Given the description of an element on the screen output the (x, y) to click on. 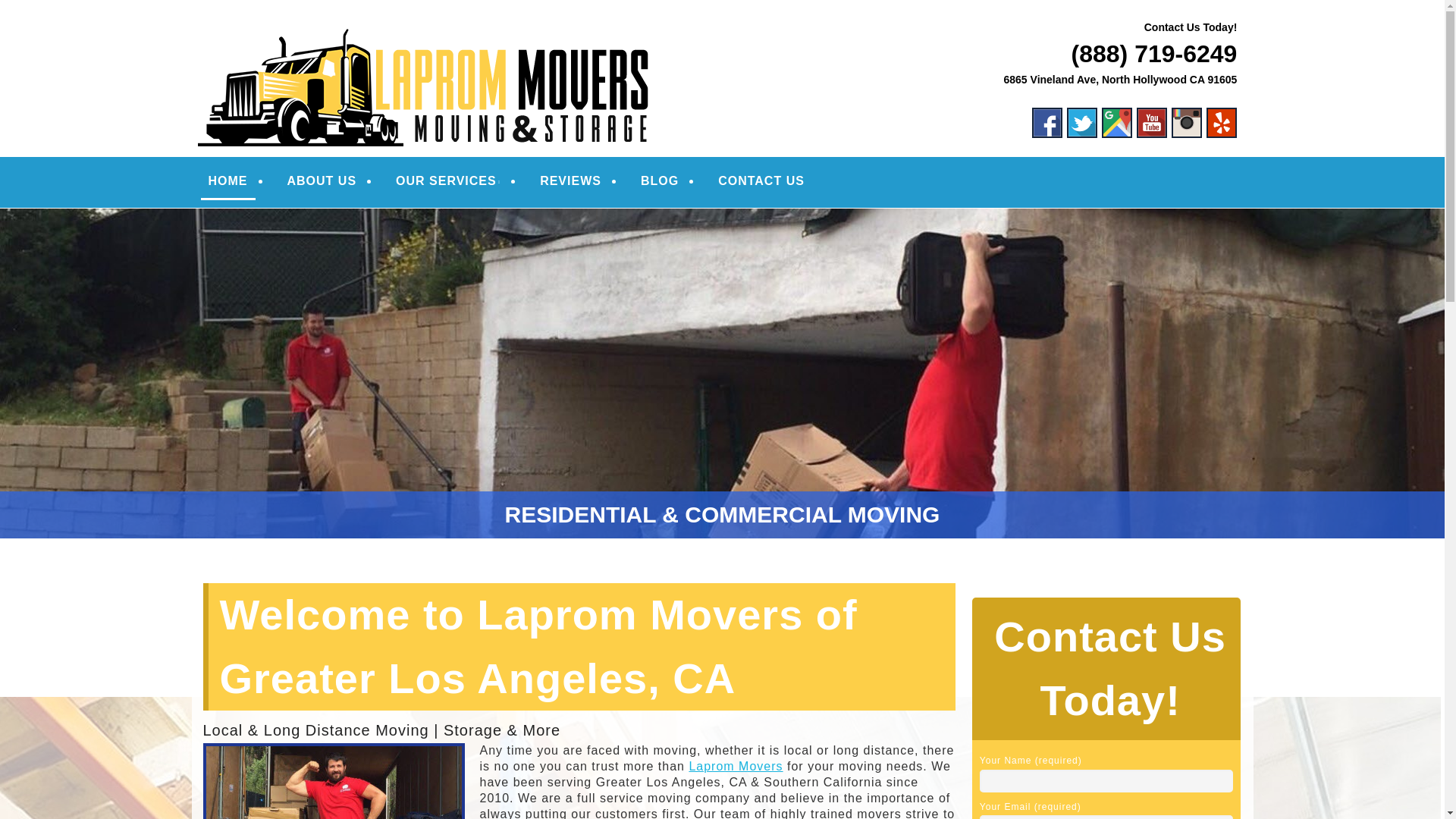
HOME (227, 181)
ABOUT US (321, 181)
REVIEWS (570, 181)
OUR SERVICES (448, 181)
Laprom Movers (320, 32)
BLOG (659, 181)
CONTACT US (761, 181)
LAPROM MOVERS (320, 32)
Laprom Movers (735, 766)
